Given the description of an element on the screen output the (x, y) to click on. 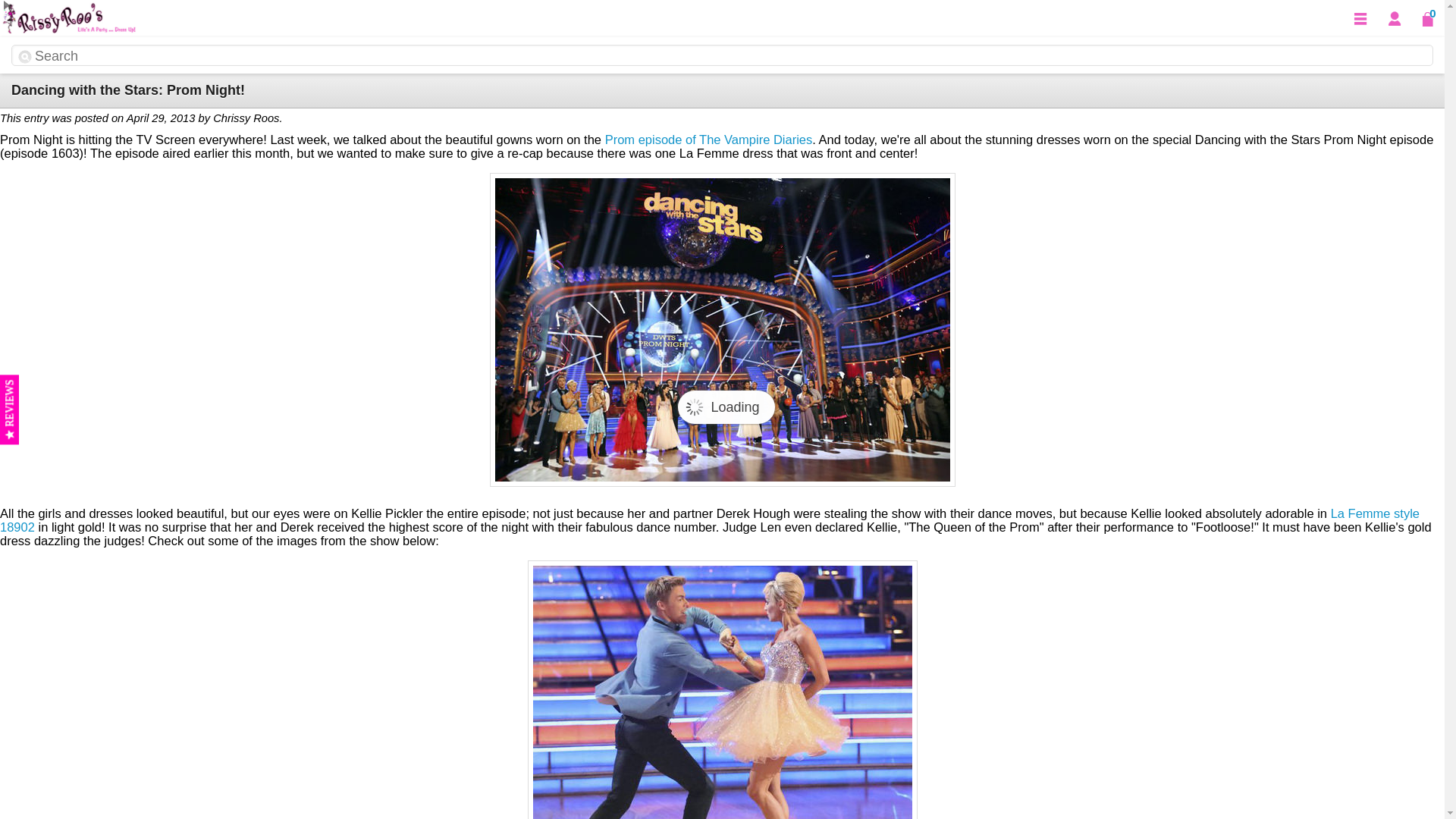
Kellie Pickler in La Femme 18902 on Dancing with the Stars (722, 689)
